Given the description of an element on the screen output the (x, y) to click on. 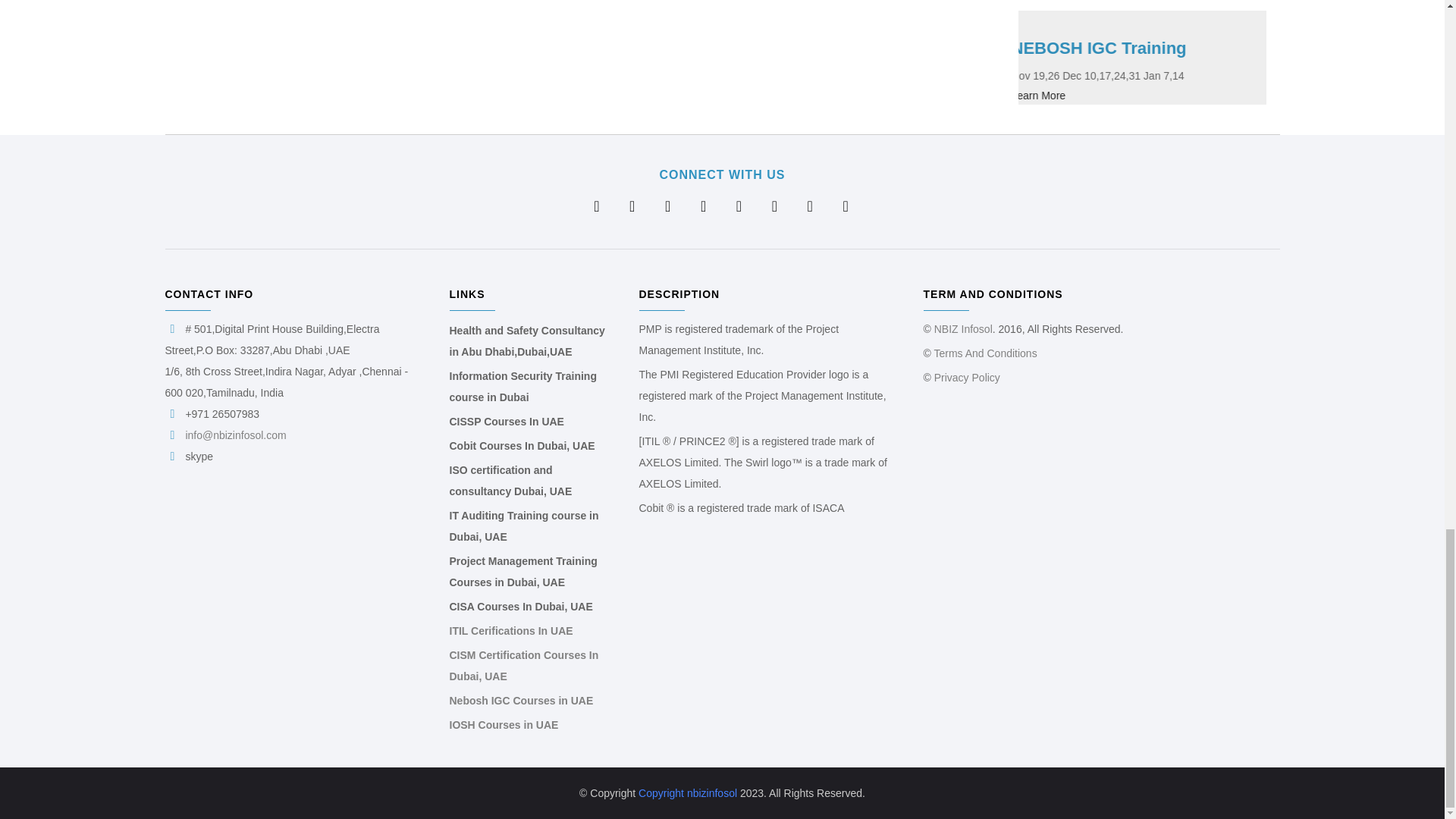
CISM Certification Courses In Dubai, UAE (523, 665)
IOSH Courses in UAE (502, 725)
ITIL Cerifications In UAE (510, 630)
